Given the description of an element on the screen output the (x, y) to click on. 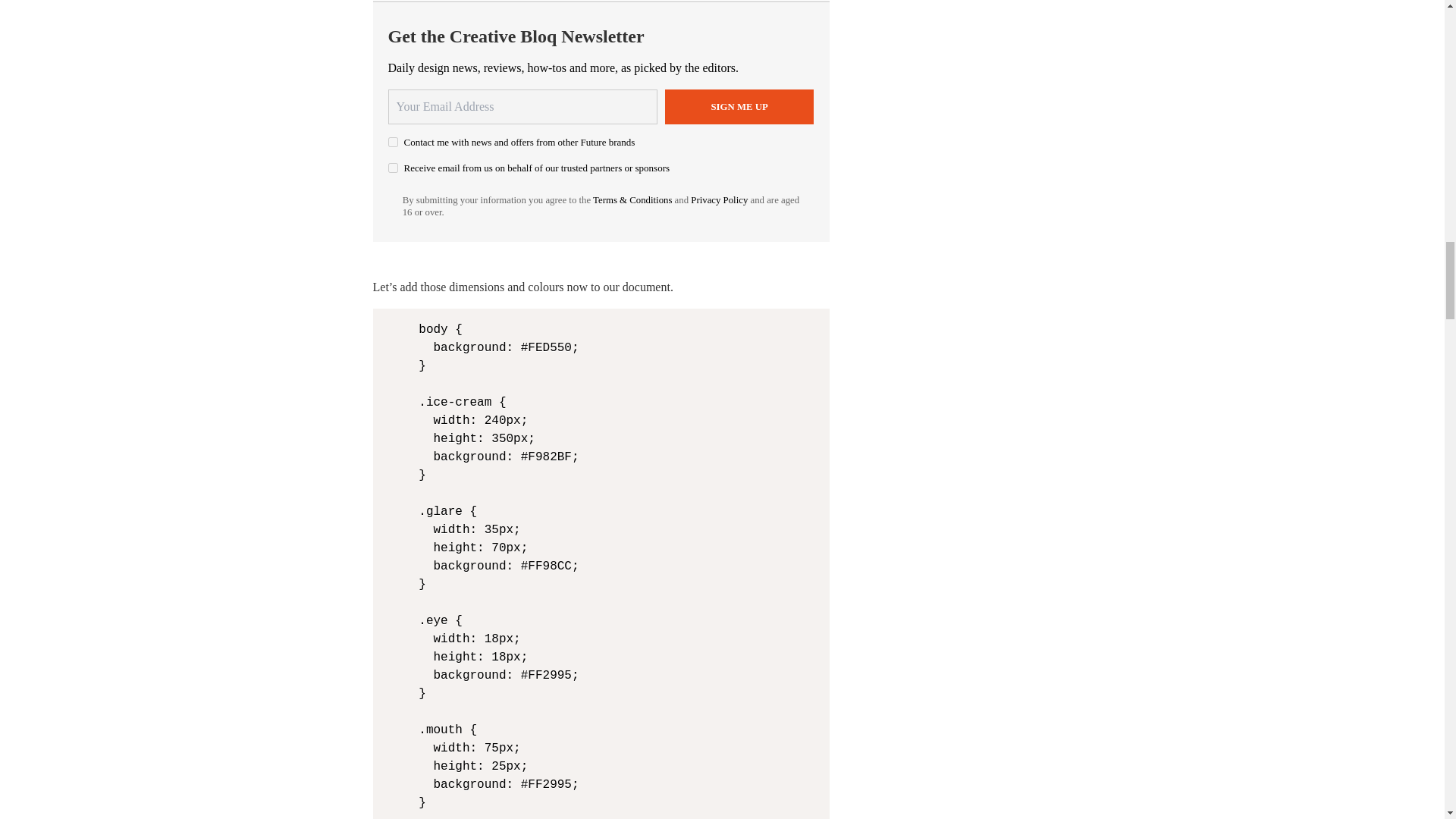
on (392, 167)
Sign me up (739, 106)
on (392, 142)
